Given the description of an element on the screen output the (x, y) to click on. 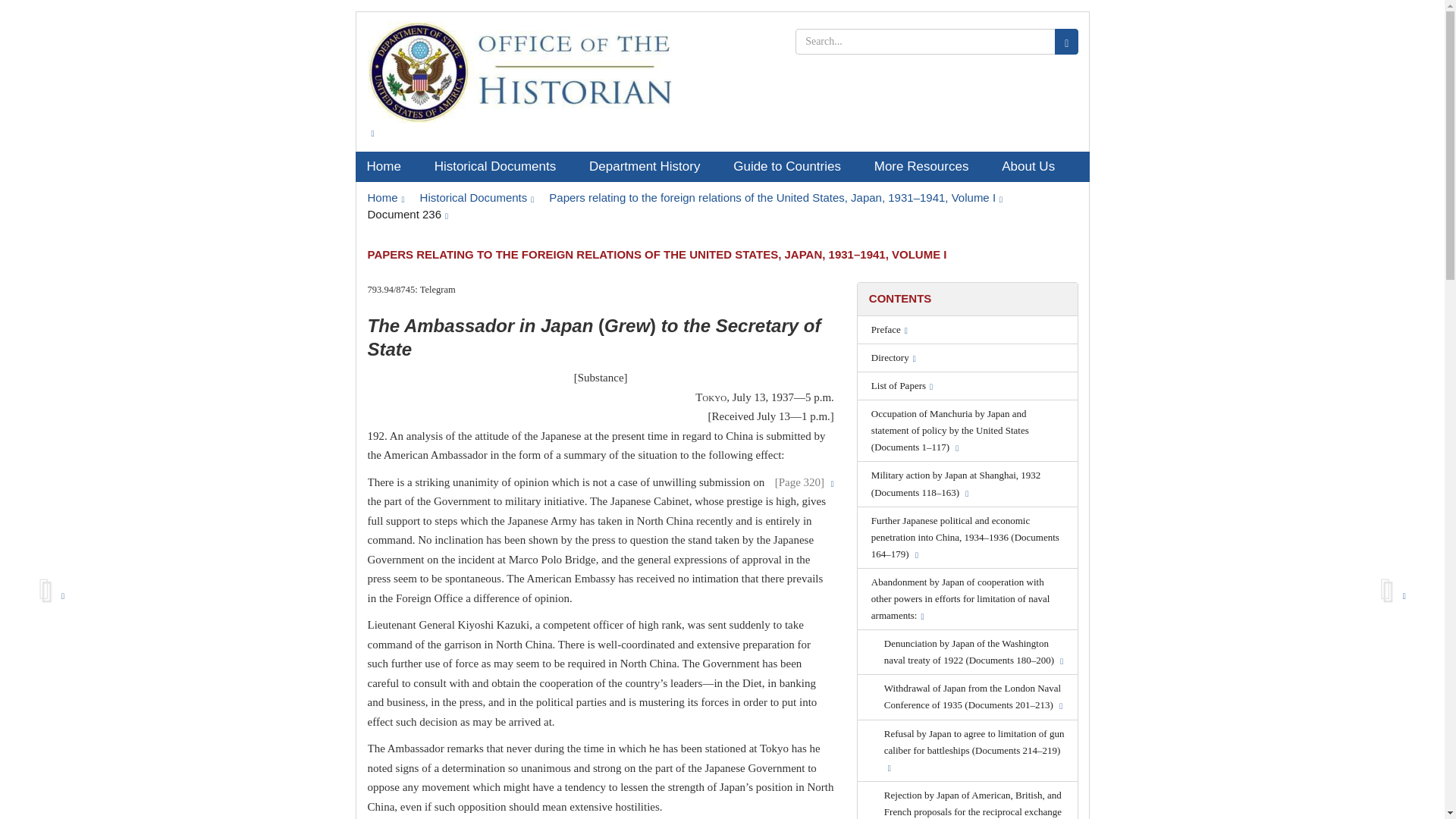
Historical Documents (477, 196)
Guide to Countries (792, 166)
Historical Documents (500, 166)
Document 236 (407, 214)
Department History (650, 166)
Home (385, 196)
About Us (1033, 166)
More Resources (926, 166)
Home (388, 166)
